Given the description of an element on the screen output the (x, y) to click on. 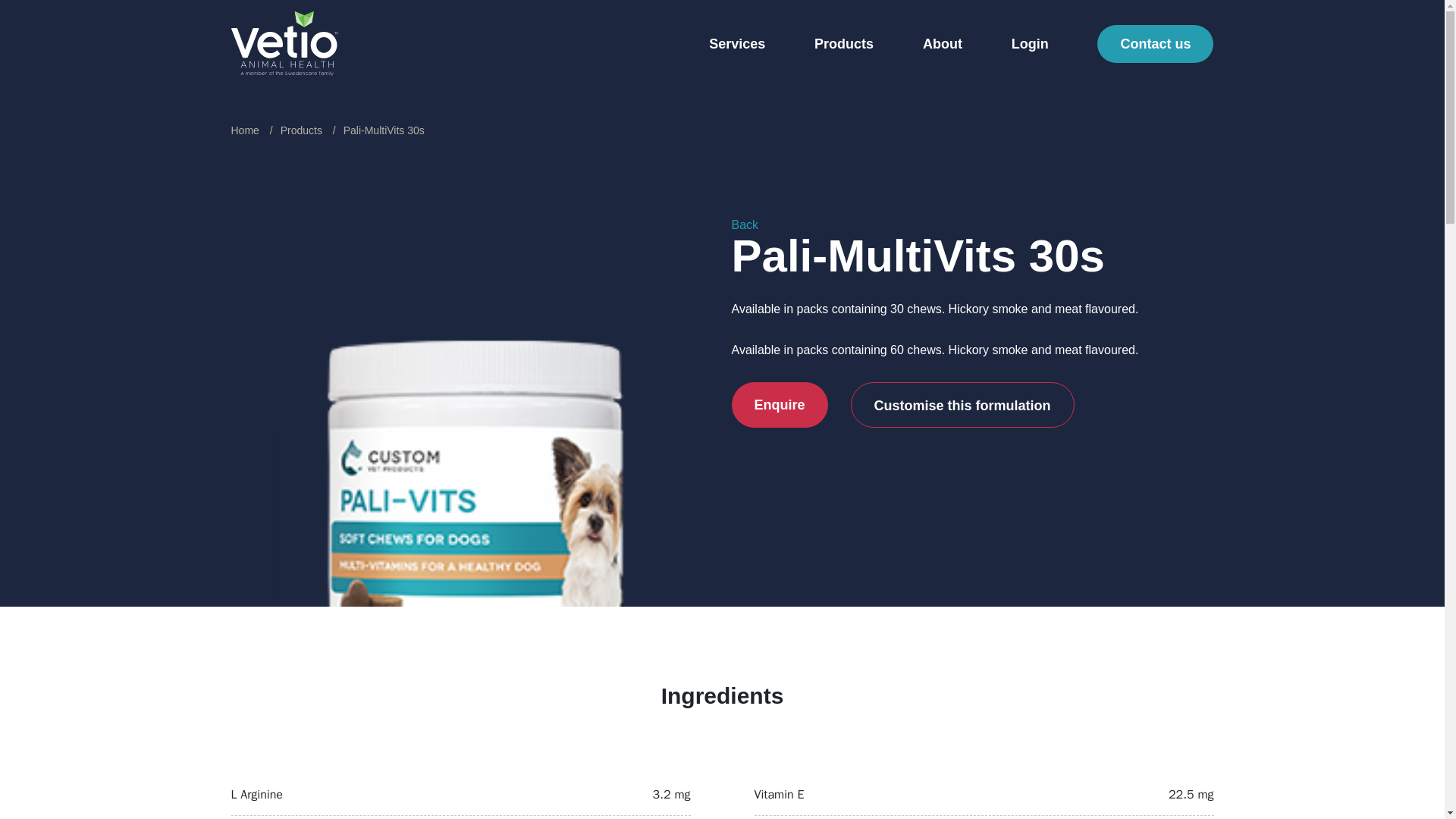
Login (1029, 45)
Services (737, 45)
Services (737, 45)
Home (244, 130)
Products (843, 45)
Vetio Animal Health Homepage (283, 43)
Products (301, 130)
Enquire about this product (778, 404)
Contact us (1154, 43)
Login (1029, 45)
